Given the description of an element on the screen output the (x, y) to click on. 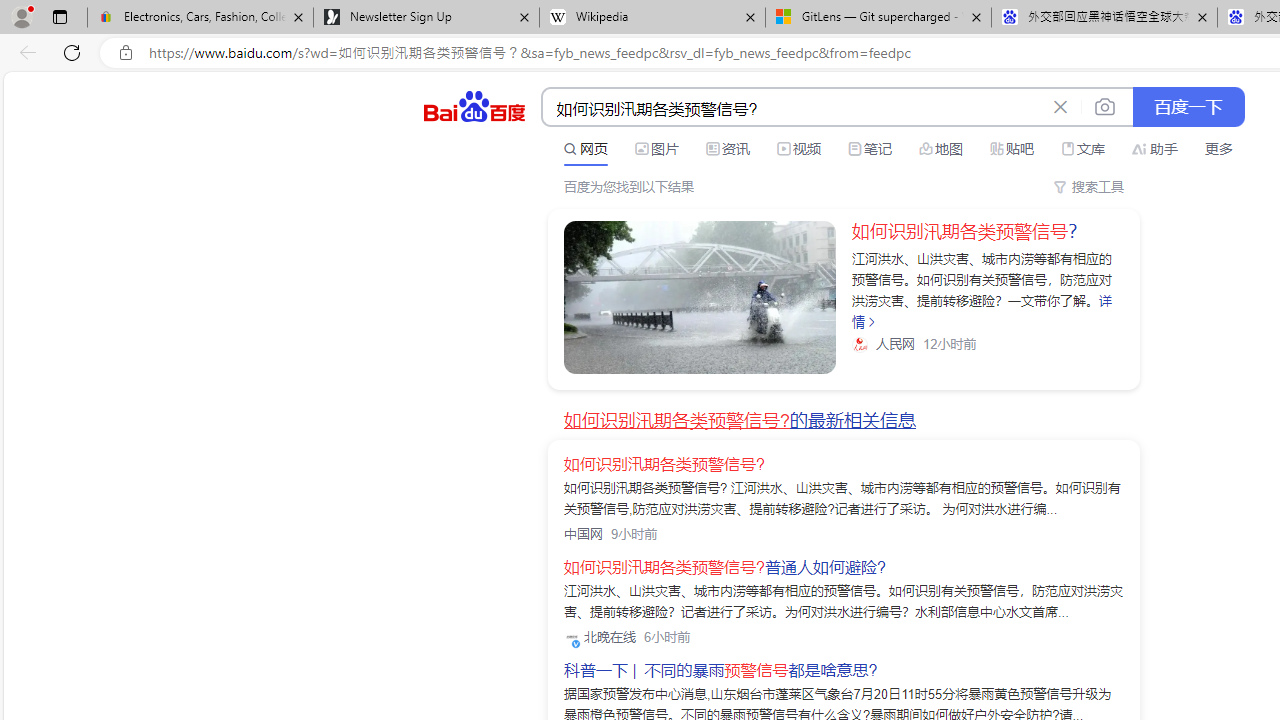
Electronics, Cars, Fashion, Collectibles & More | eBay (200, 17)
